Given the description of an element on the screen output the (x, y) to click on. 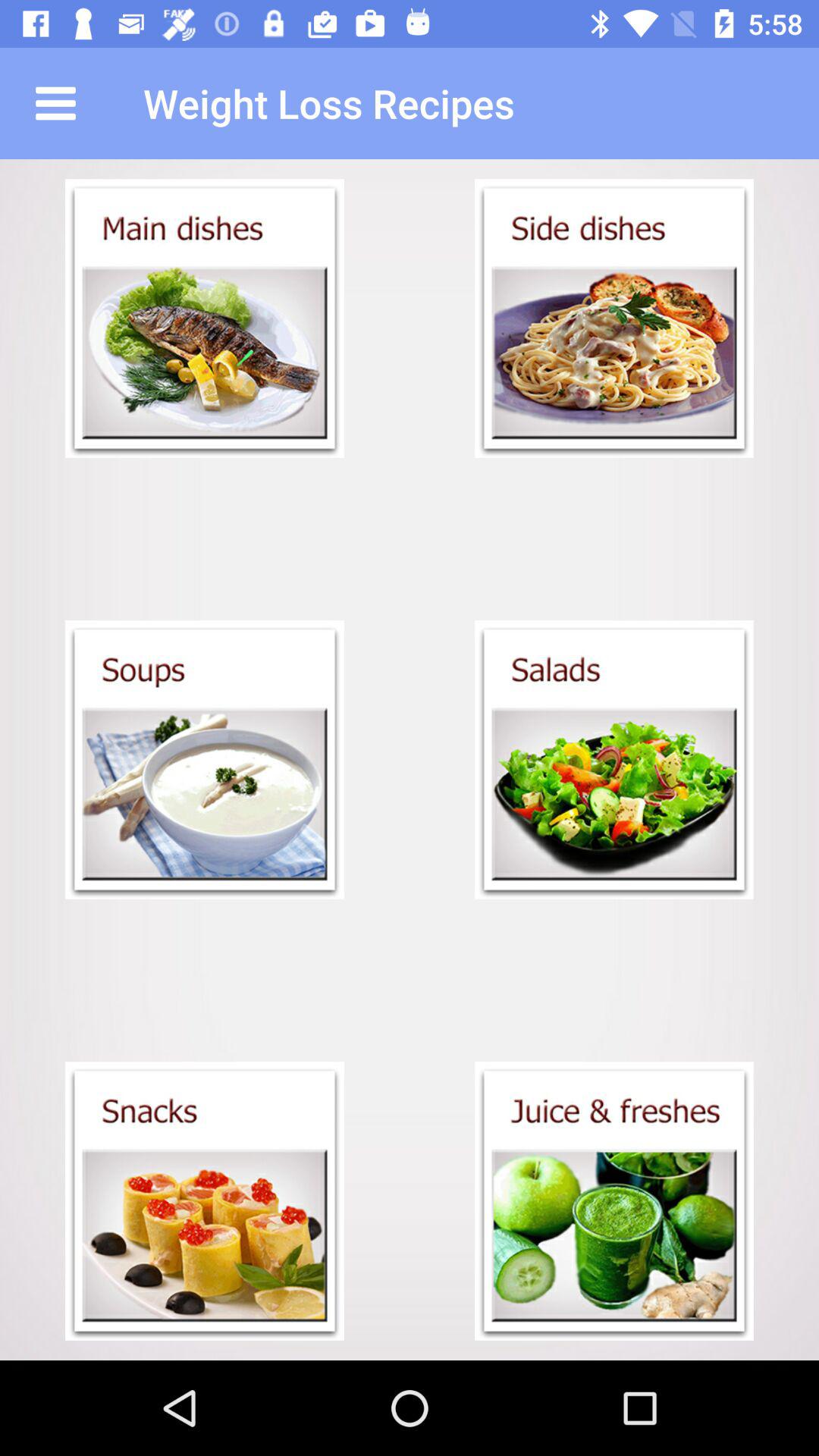
shows the snack menu (204, 1200)
